Given the description of an element on the screen output the (x, y) to click on. 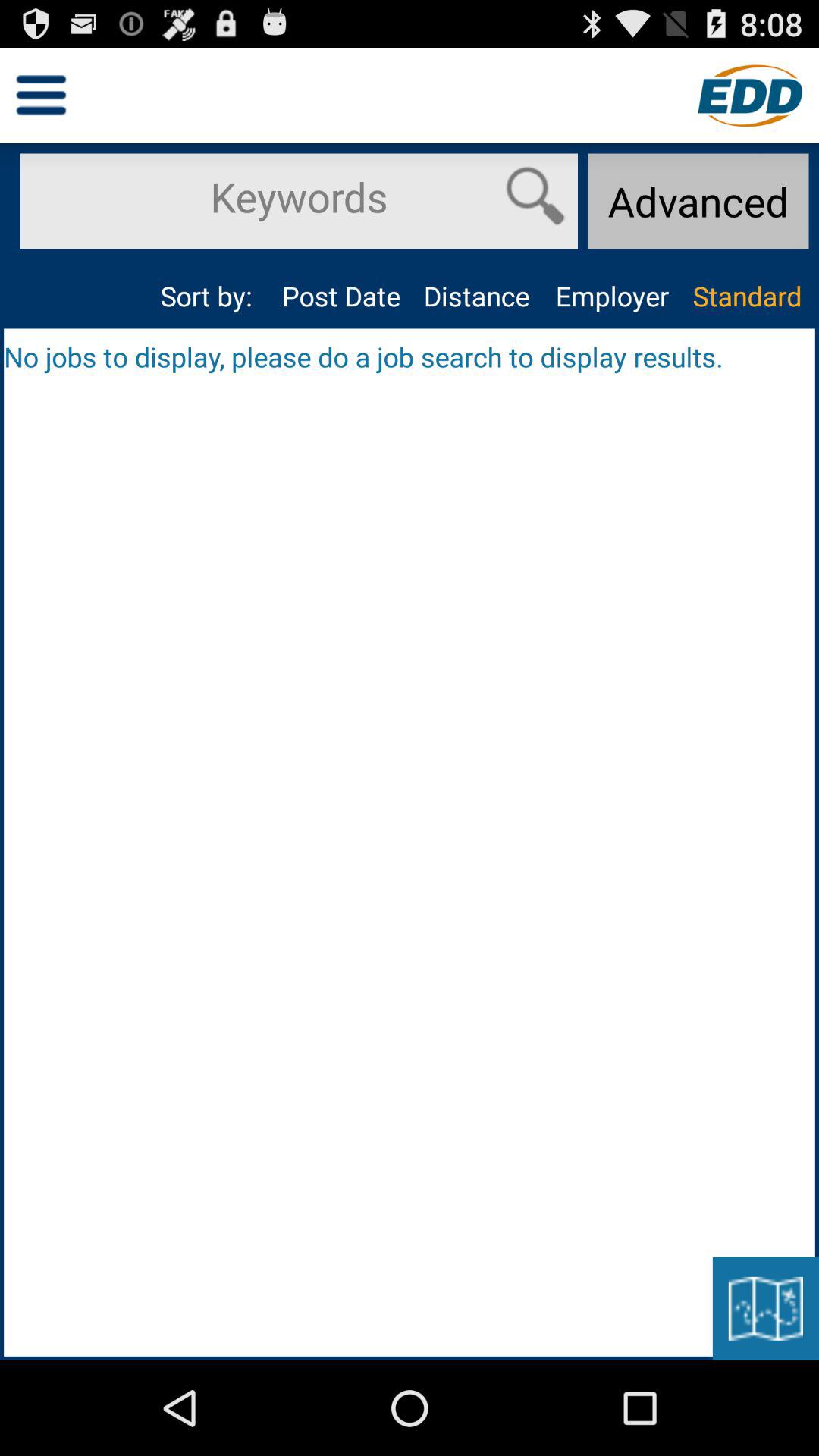
jump until the employer icon (611, 295)
